Given the description of an element on the screen output the (x, y) to click on. 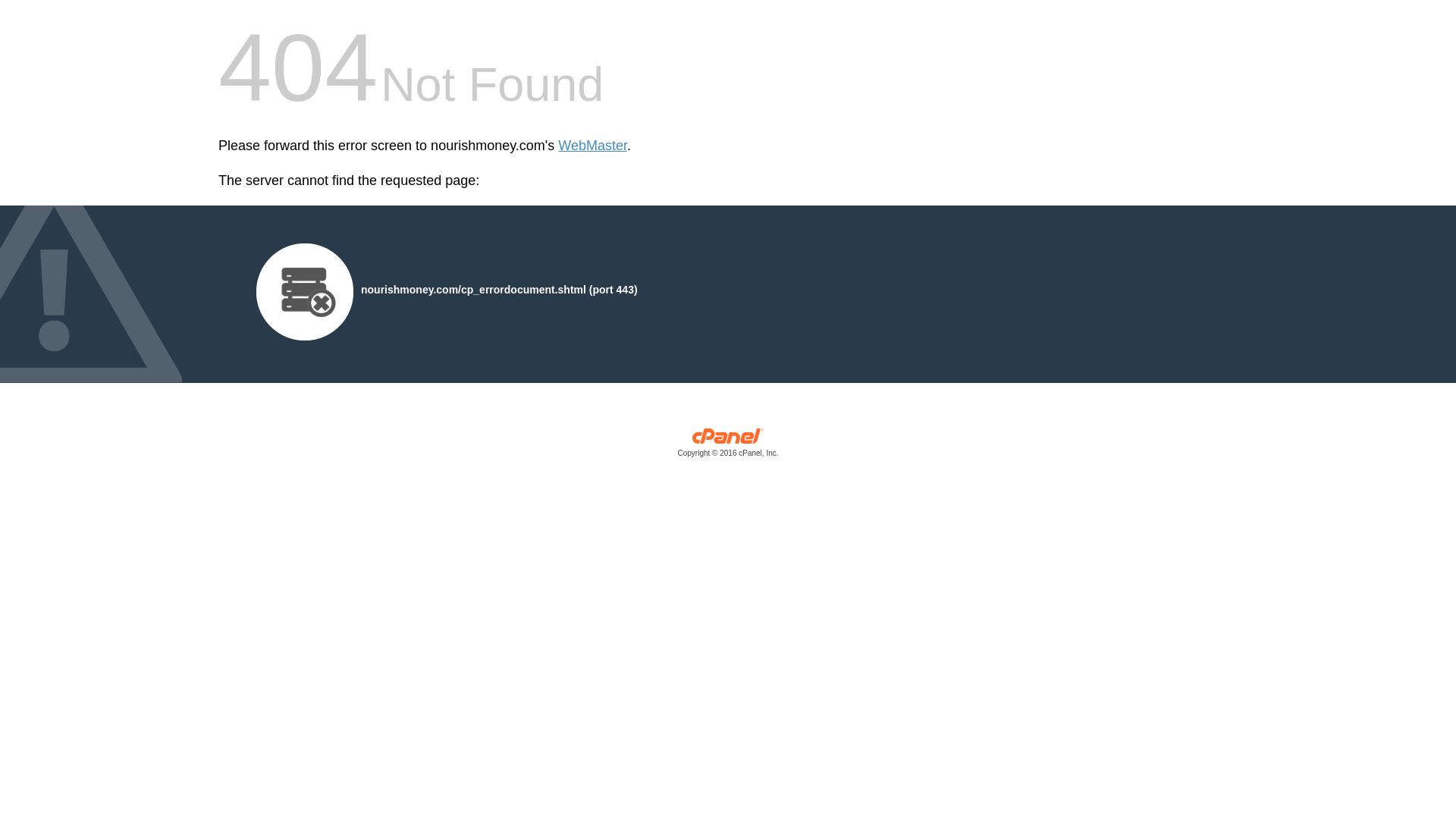
cPanel, Inc. (727, 446)
WebMaster (592, 145)
